Given the description of an element on the screen output the (x, y) to click on. 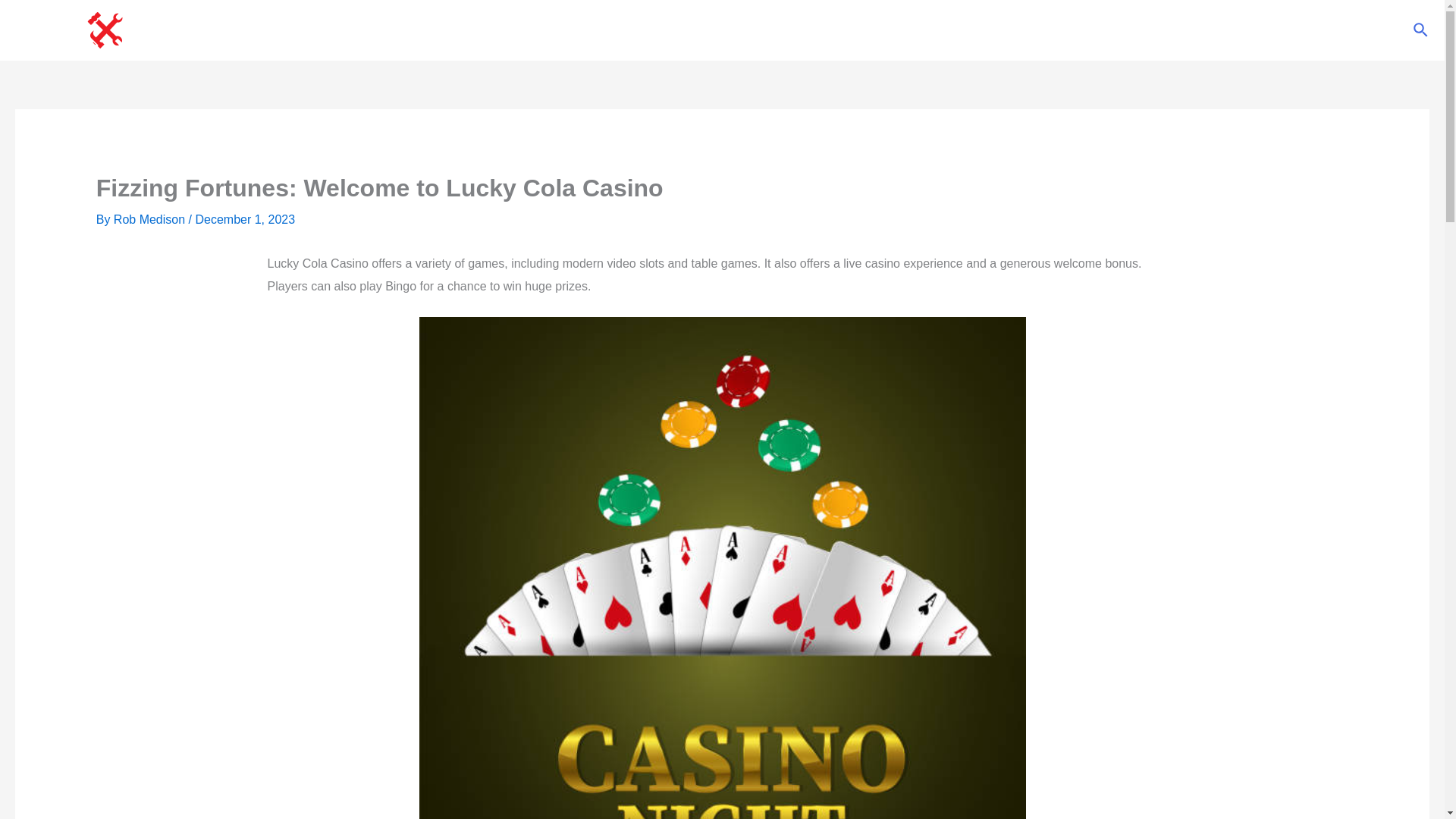
View all posts by Rob Medison (151, 219)
Search (1421, 30)
Guide (838, 30)
Rob Medison (151, 219)
Equipment Reviews (744, 30)
Tools Reviews (627, 30)
